Given the description of an element on the screen output the (x, y) to click on. 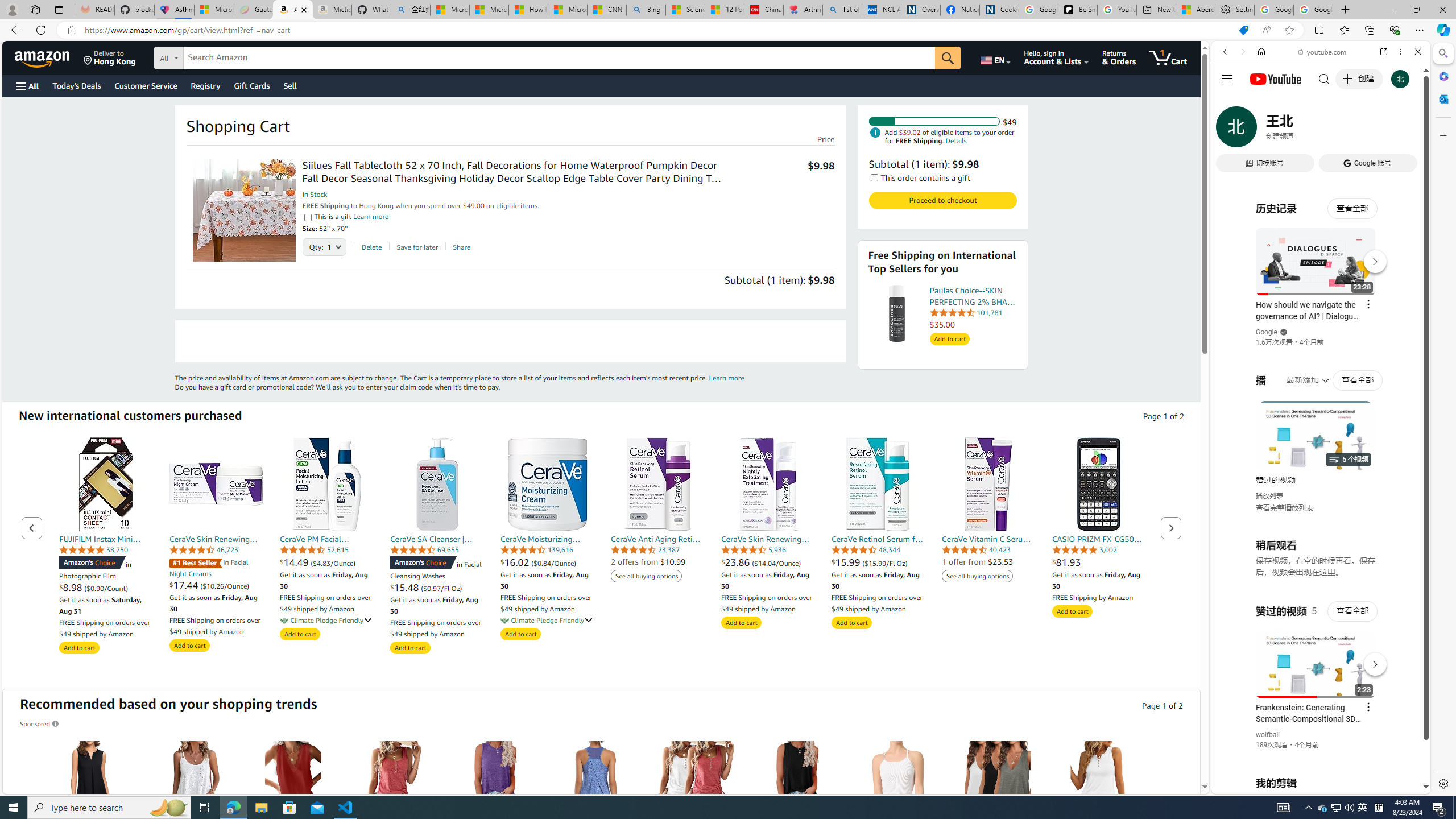
$35.00 (972, 324)
Search videos from youtube.com (1299, 373)
($0.84/Ounce) (553, 562)
Open Menu (26, 86)
Qty: Quantity (323, 243)
CASIO PRIZM FX-CG50 Color Graphing Calculator (1098, 484)
Deliver to Hong Kong (109, 57)
